Given the description of an element on the screen output the (x, y) to click on. 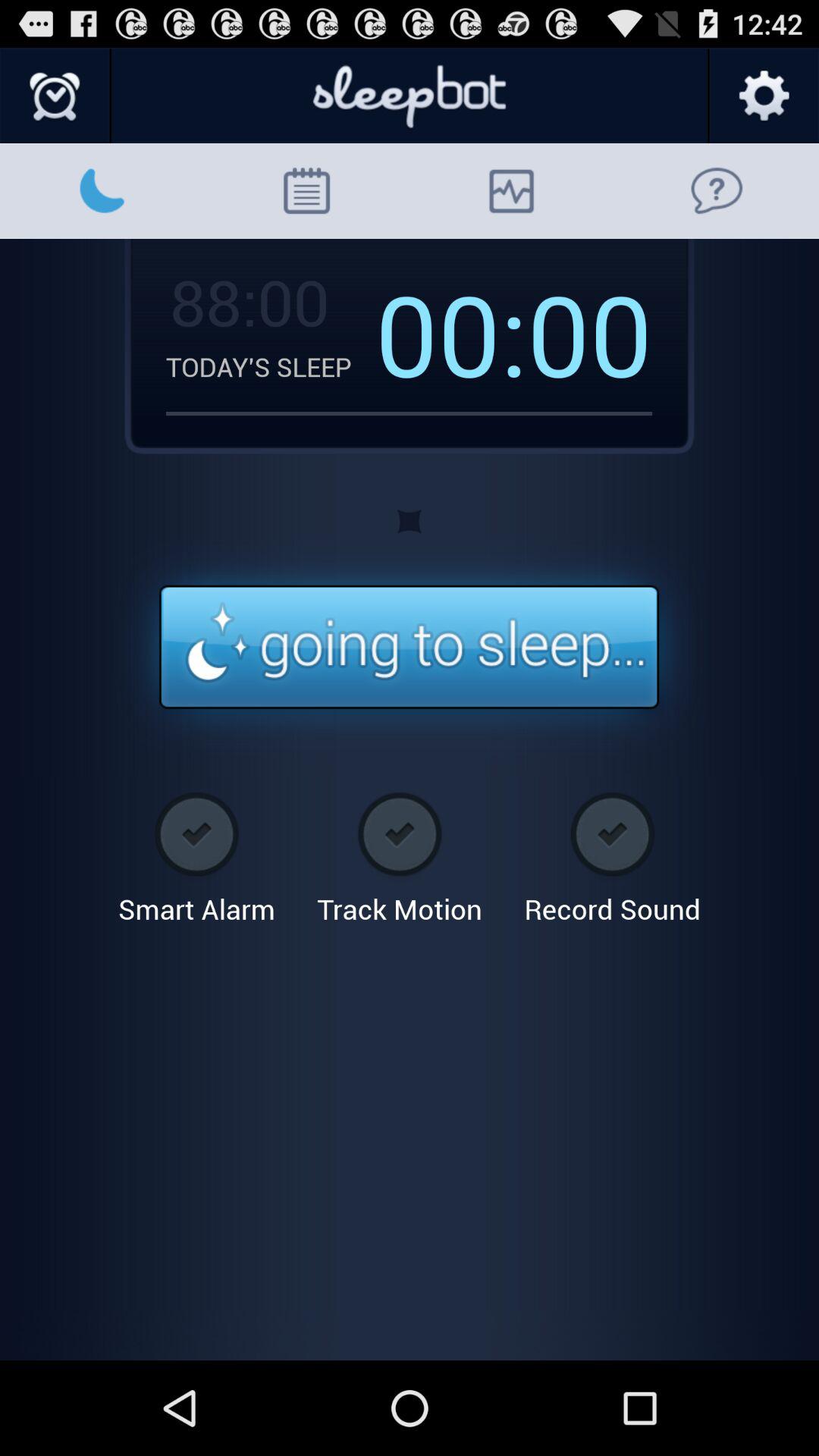
press item above smart alarm app (408, 647)
